Given the description of an element on the screen output the (x, y) to click on. 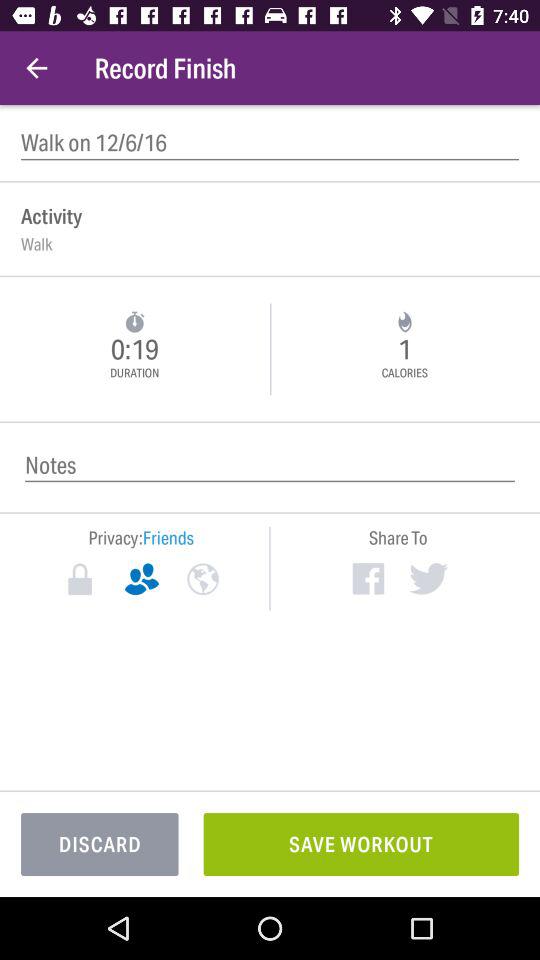
tap the item below the friends icon (202, 579)
